Given the description of an element on the screen output the (x, y) to click on. 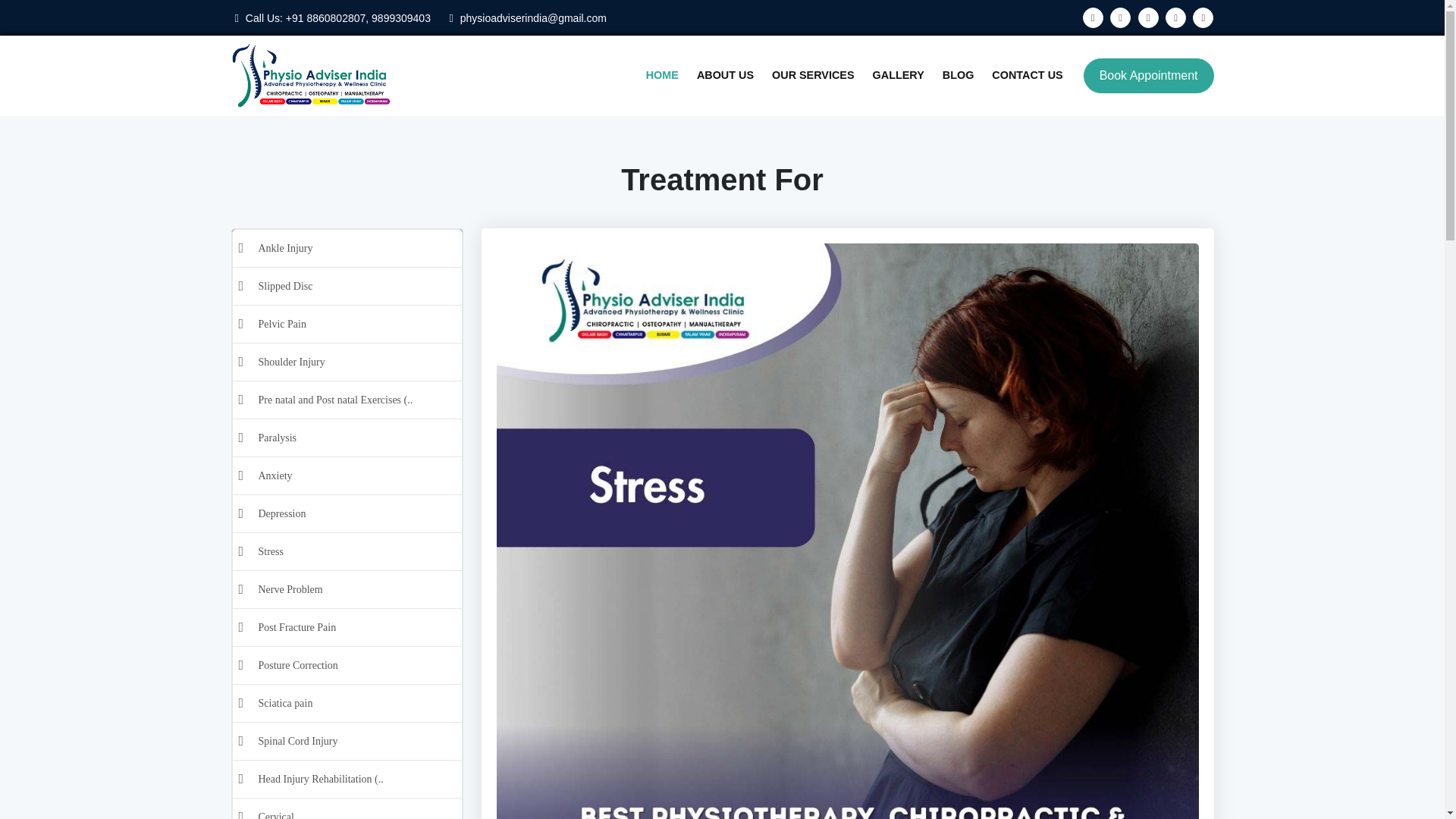
Spinal Cord Injury (355, 741)
Pelvic Pain (355, 324)
Shoulder Injury (355, 361)
Slipped Disc (355, 285)
GALLERY (898, 75)
OUR SERVICES (812, 75)
Ankle Injury (355, 248)
ABOUT US (725, 75)
Post Fracture Pain (355, 627)
Cervical (355, 808)
